Given the description of an element on the screen output the (x, y) to click on. 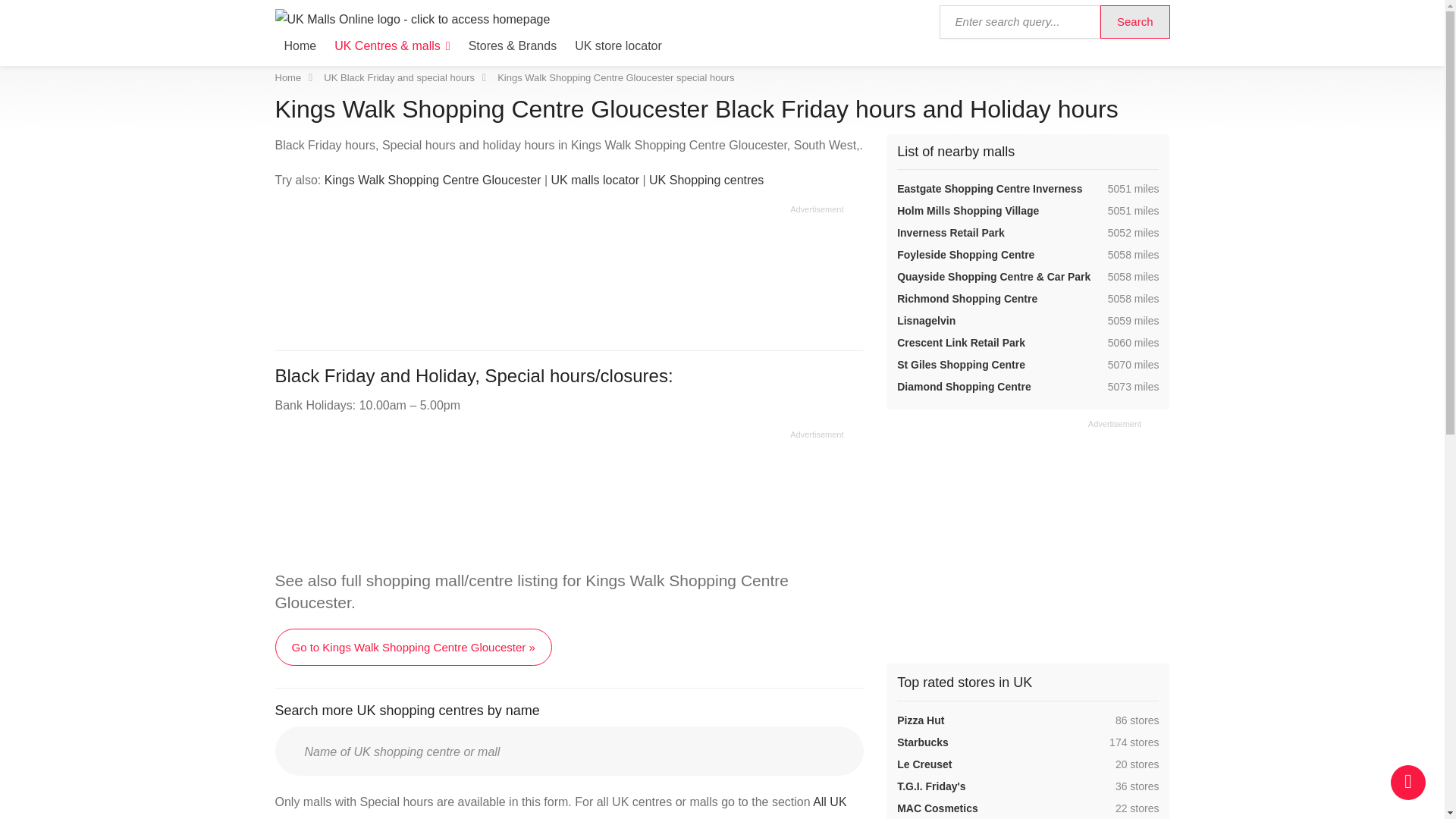
Eastgate Shopping Centre Inverness (988, 188)
Le Creuset (924, 764)
UK Shopping centres (705, 179)
Pizza Hut (919, 720)
Home (288, 77)
Richmond Shopping Centre (966, 298)
Starbucks (922, 742)
Holm Mills Shopping Village (967, 210)
MAC Cosmetics (937, 808)
Diamond Shopping Centre (963, 386)
